Given the description of an element on the screen output the (x, y) to click on. 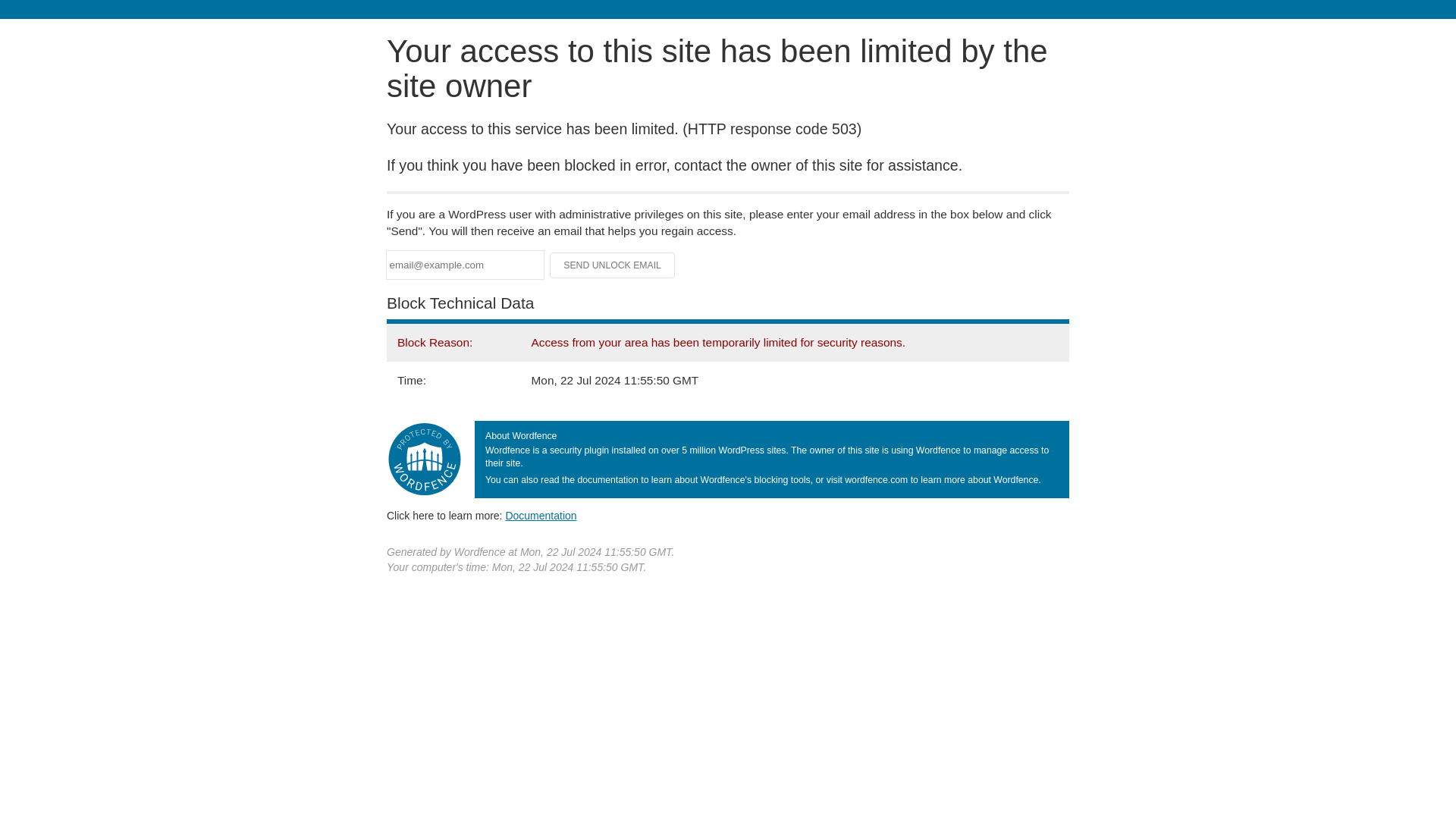
Documentation (540, 515)
Send Unlock Email (612, 265)
Send Unlock Email (612, 265)
